Given the description of an element on the screen output the (x, y) to click on. 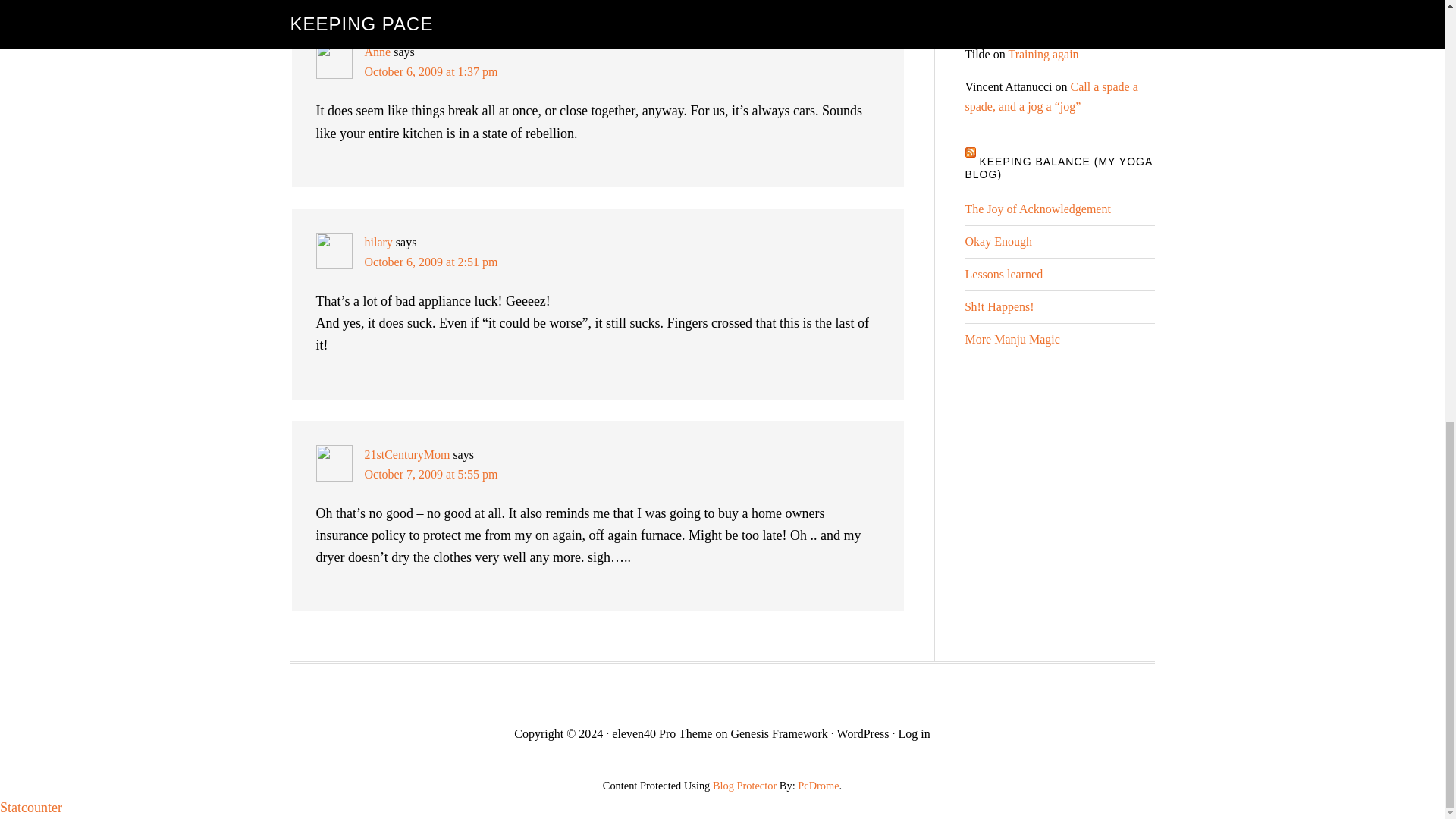
October 6, 2009 at 2:51 pm (430, 261)
hilary (377, 241)
The Joy of Acknowledgement (1036, 208)
Okay Enough (996, 241)
Lessons learned (1002, 273)
More Manju Magic (1011, 338)
October 6, 2009 at 1:37 pm (430, 71)
October 7, 2009 at 5:55 pm (430, 473)
21stCenturyMom (406, 454)
Training again (1036, 21)
Training again (1042, 53)
Anne (377, 51)
